Given the description of an element on the screen output the (x, y) to click on. 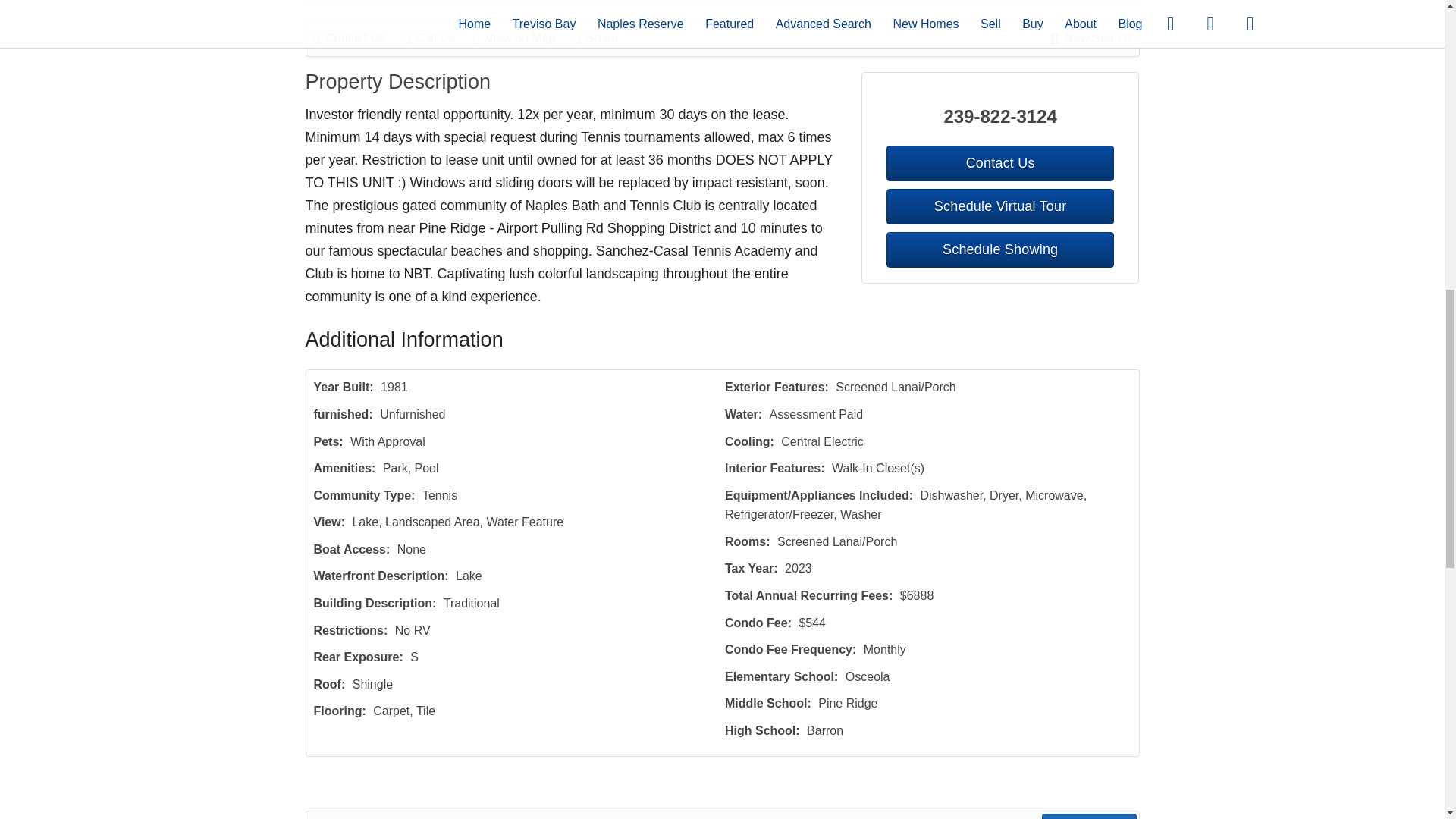
Share (603, 38)
Contact Us (357, 38)
Call Us (437, 38)
New Search (1090, 38)
View on Map (521, 38)
